Given the description of an element on the screen output the (x, y) to click on. 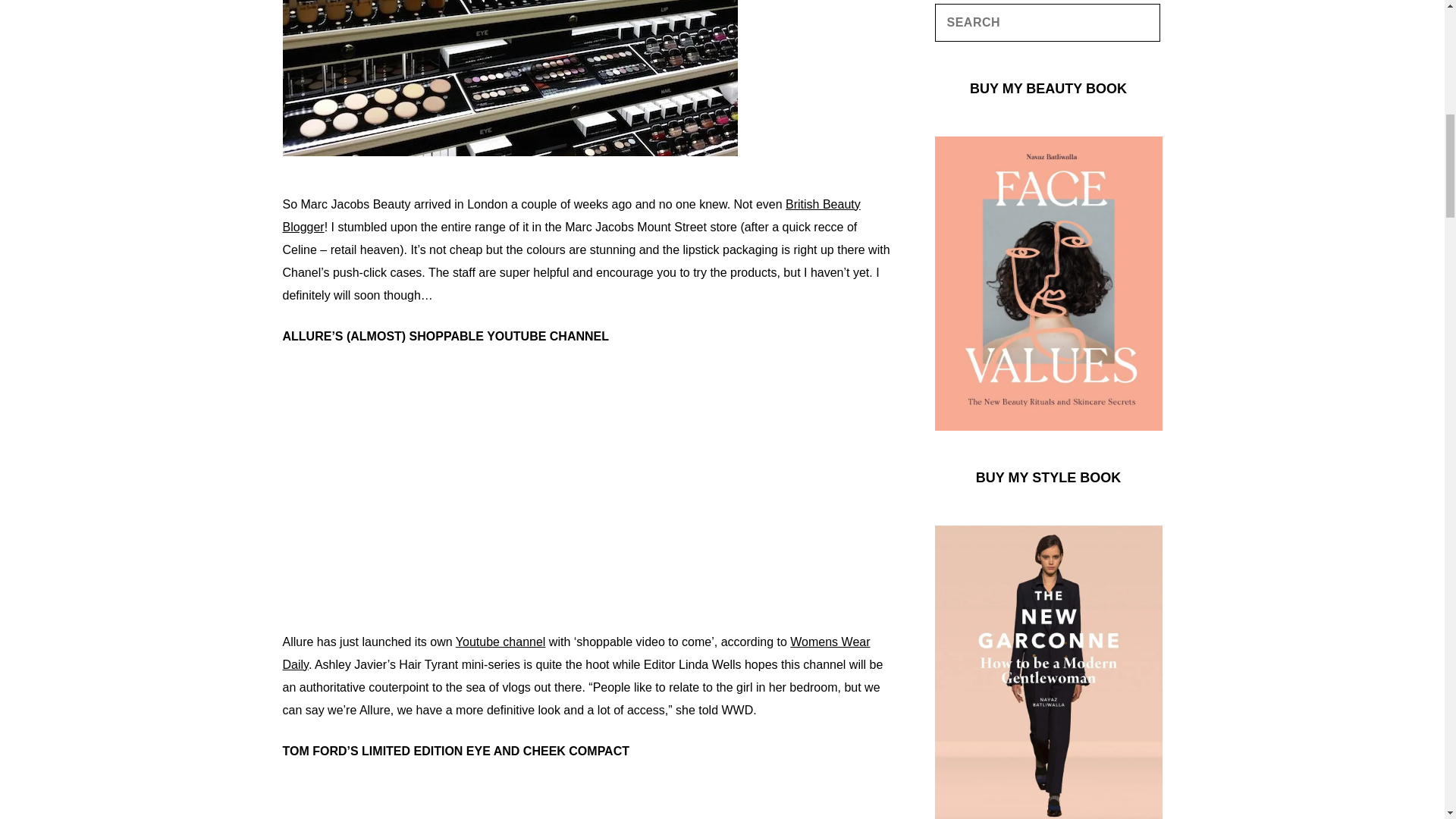
Youtube channel (500, 641)
Womens Wear Daily (575, 652)
the-new-garconne-book (1047, 812)
face-values (1047, 418)
British Beauty Blogger (571, 214)
